Given the description of an element on the screen output the (x, y) to click on. 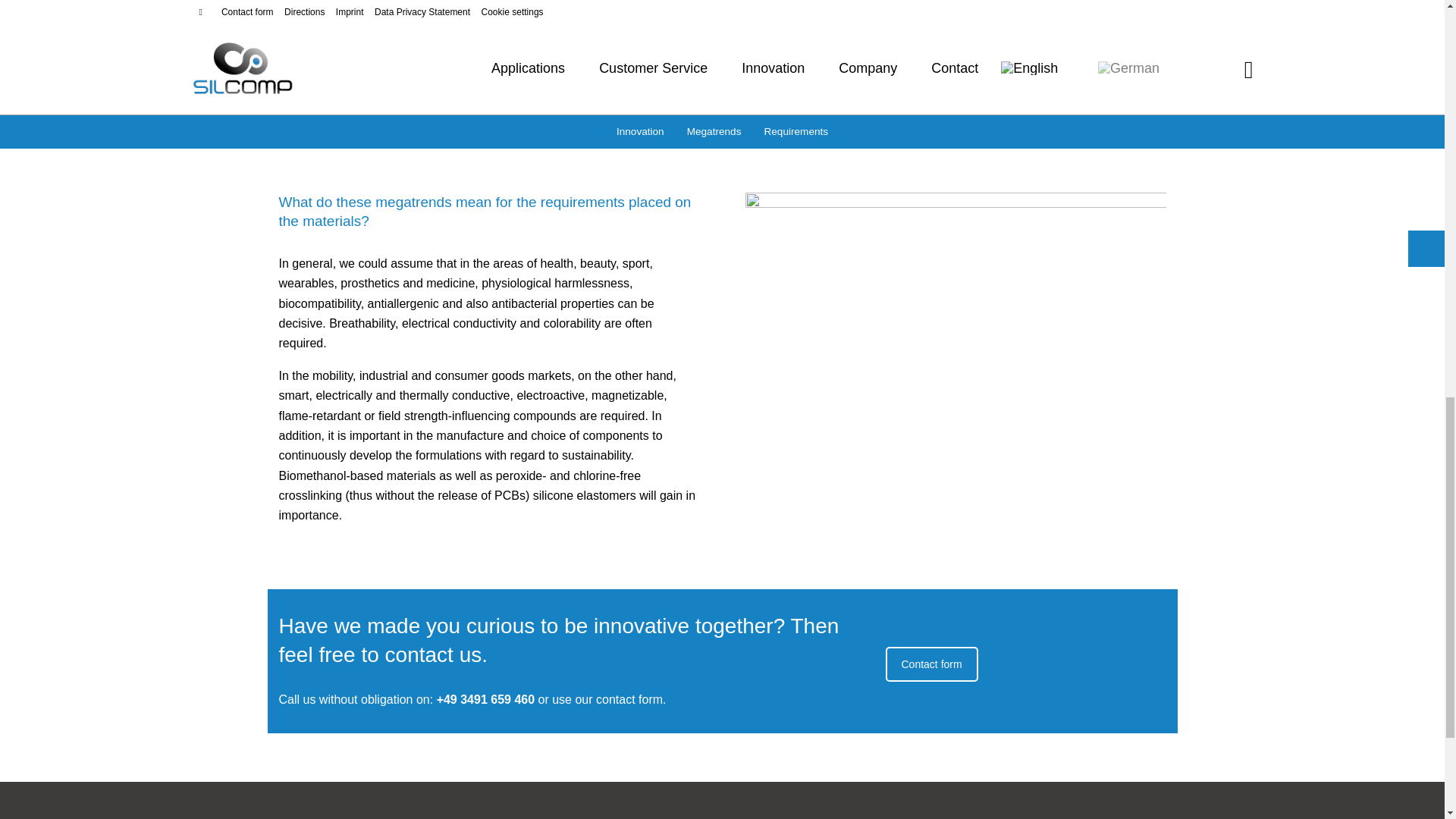
Contact form (931, 664)
foto207 (955, 332)
Kontakt (931, 664)
